Given the description of an element on the screen output the (x, y) to click on. 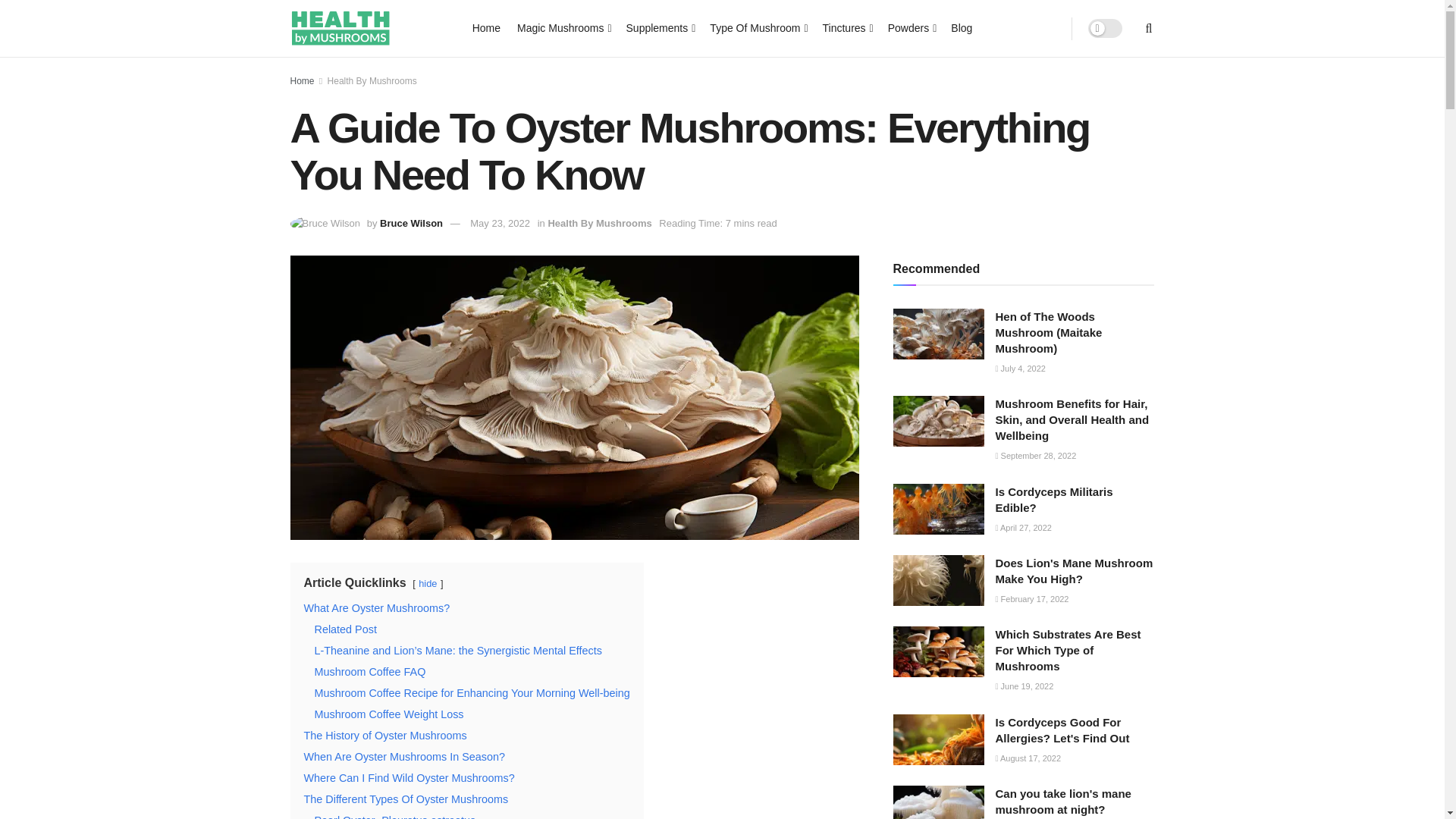
Home (485, 27)
Supplements (660, 27)
Magic Mushrooms (563, 27)
Type Of Mushroom (757, 27)
